Given the description of an element on the screen output the (x, y) to click on. 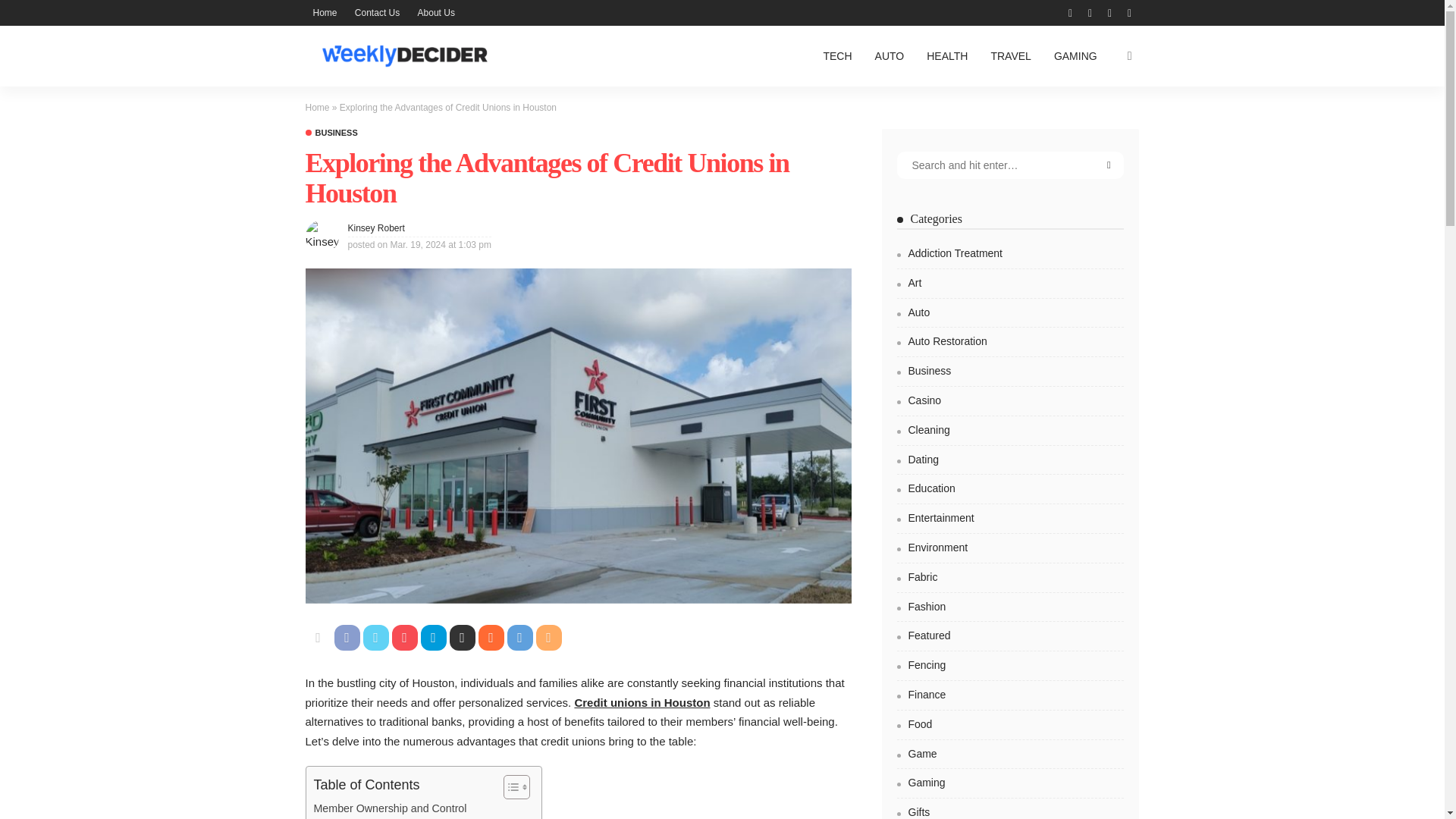
Member Ownership and Control (390, 808)
Weekly Decider (403, 55)
Business (330, 132)
Competitive Rates and Fees (381, 818)
